Given the description of an element on the screen output the (x, y) to click on. 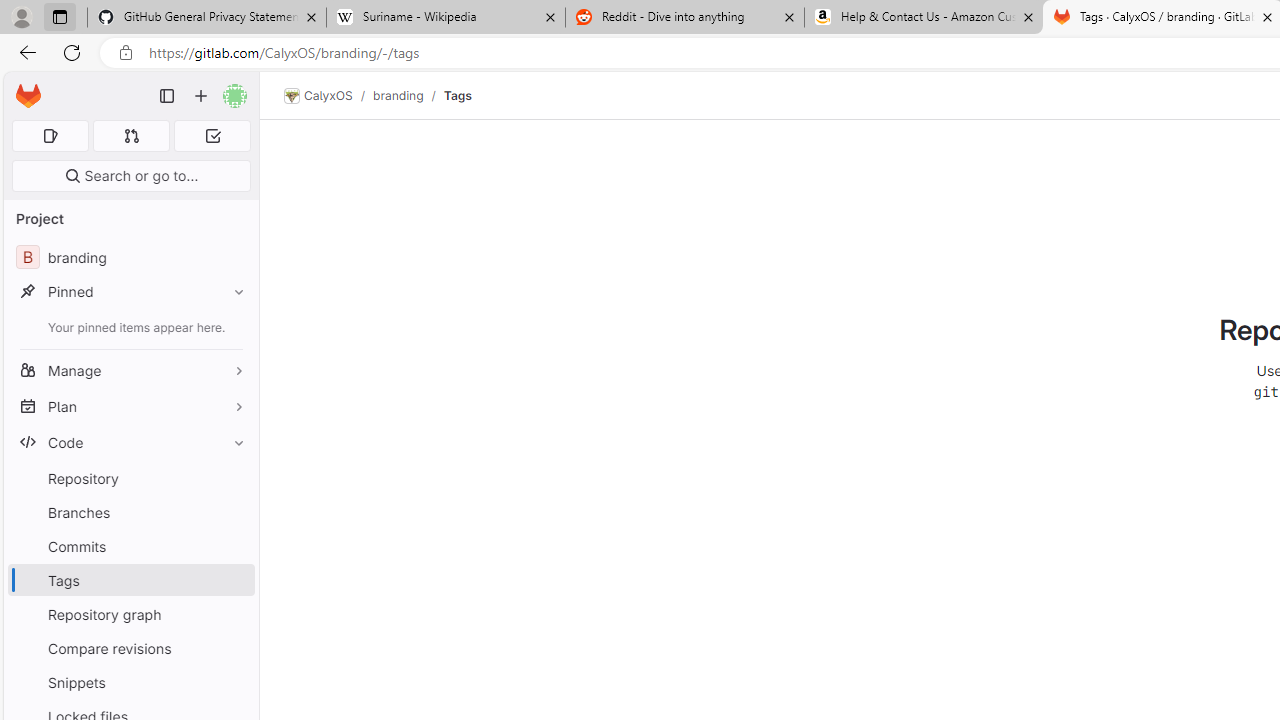
Suriname - Wikipedia (445, 17)
Pin Compare revisions (234, 647)
Snippets (130, 682)
B branding (130, 257)
Plan (130, 406)
Repository graph (130, 614)
branding (397, 95)
Branches (130, 512)
Homepage (27, 96)
Help & Contact Us - Amazon Customer Service (924, 17)
Branches (130, 512)
GitHub General Privacy Statement - GitHub Docs (207, 17)
